Given the description of an element on the screen output the (x, y) to click on. 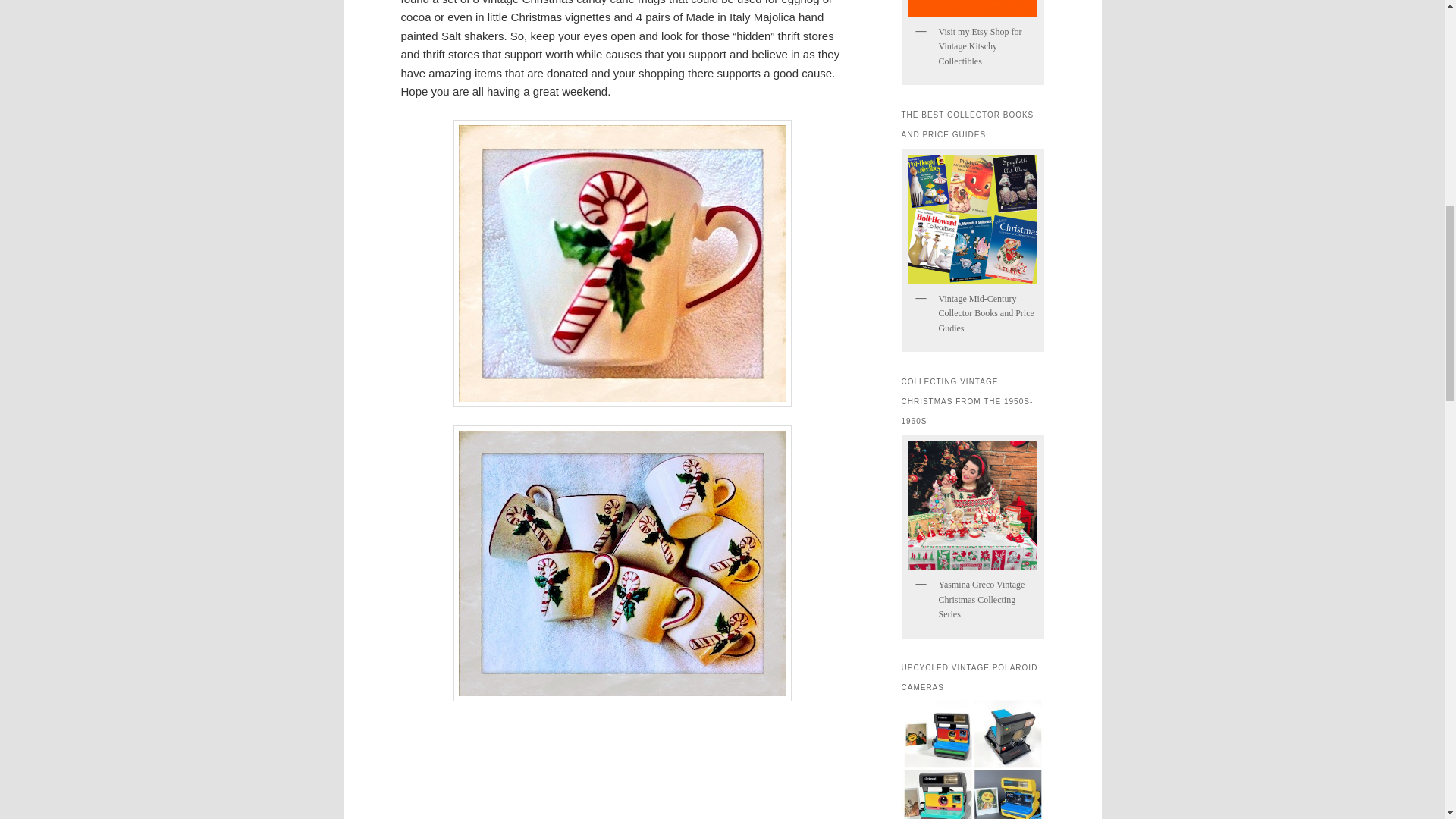
photo copy 2 (622, 263)
Crazy4Me Style Merch (972, 218)
photo copy (622, 563)
Shop My Etsy Store for Vintage Kitschy Collectibles (972, 8)
Upcycled Vintage Polaroid Cameras (972, 758)
